Given the description of an element on the screen output the (x, y) to click on. 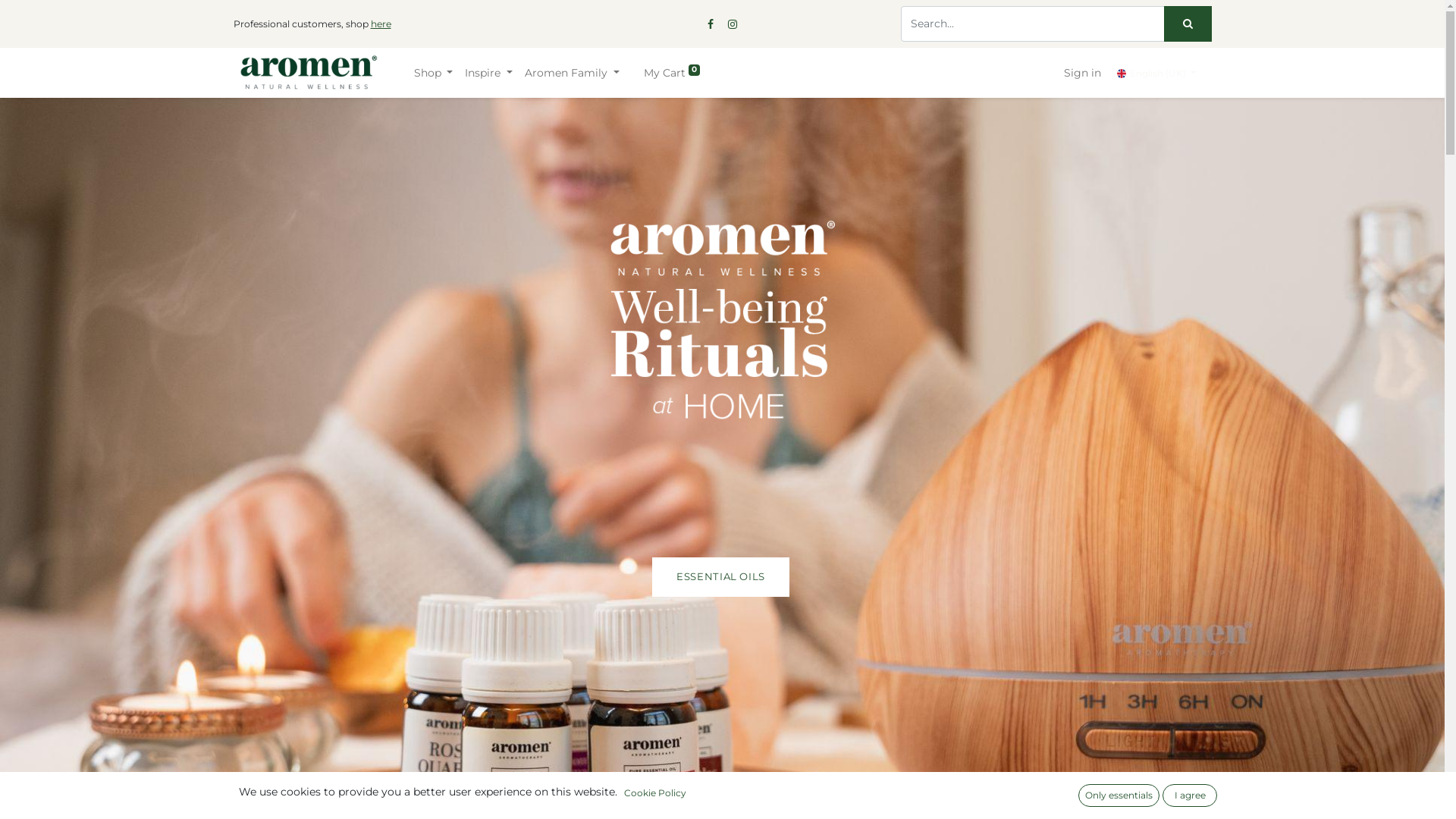
ESSENTIAL OILS Element type: text (720, 576)
Only essentials Element type: text (1118, 795)
here Element type: text (380, 23)
Aromen Family Element type: text (571, 73)
Search Element type: hover (1187, 23)
Cookie Policy Element type: text (655, 792)
Shop Element type: text (433, 73)
Inspire Element type: text (488, 73)
Aromen B2C Element type: hover (308, 72)
My Cart 0 Element type: text (671, 73)
English (UK) Element type: text (1155, 73)
Sign in Element type: text (1082, 73)
I agree Element type: text (1189, 795)
